Given the description of an element on the screen output the (x, y) to click on. 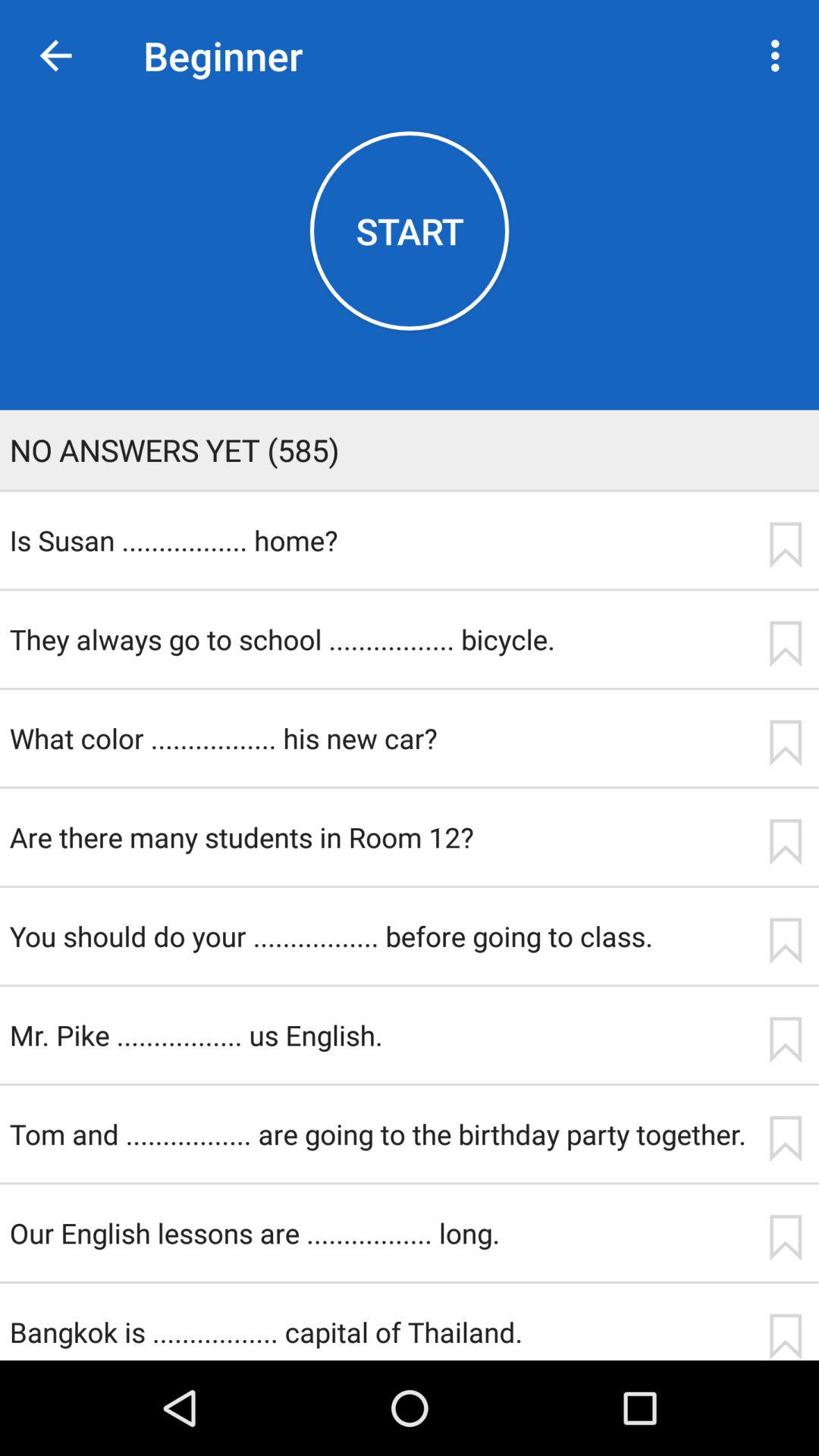
launch the item at the top right corner (779, 55)
